Given the description of an element on the screen output the (x, y) to click on. 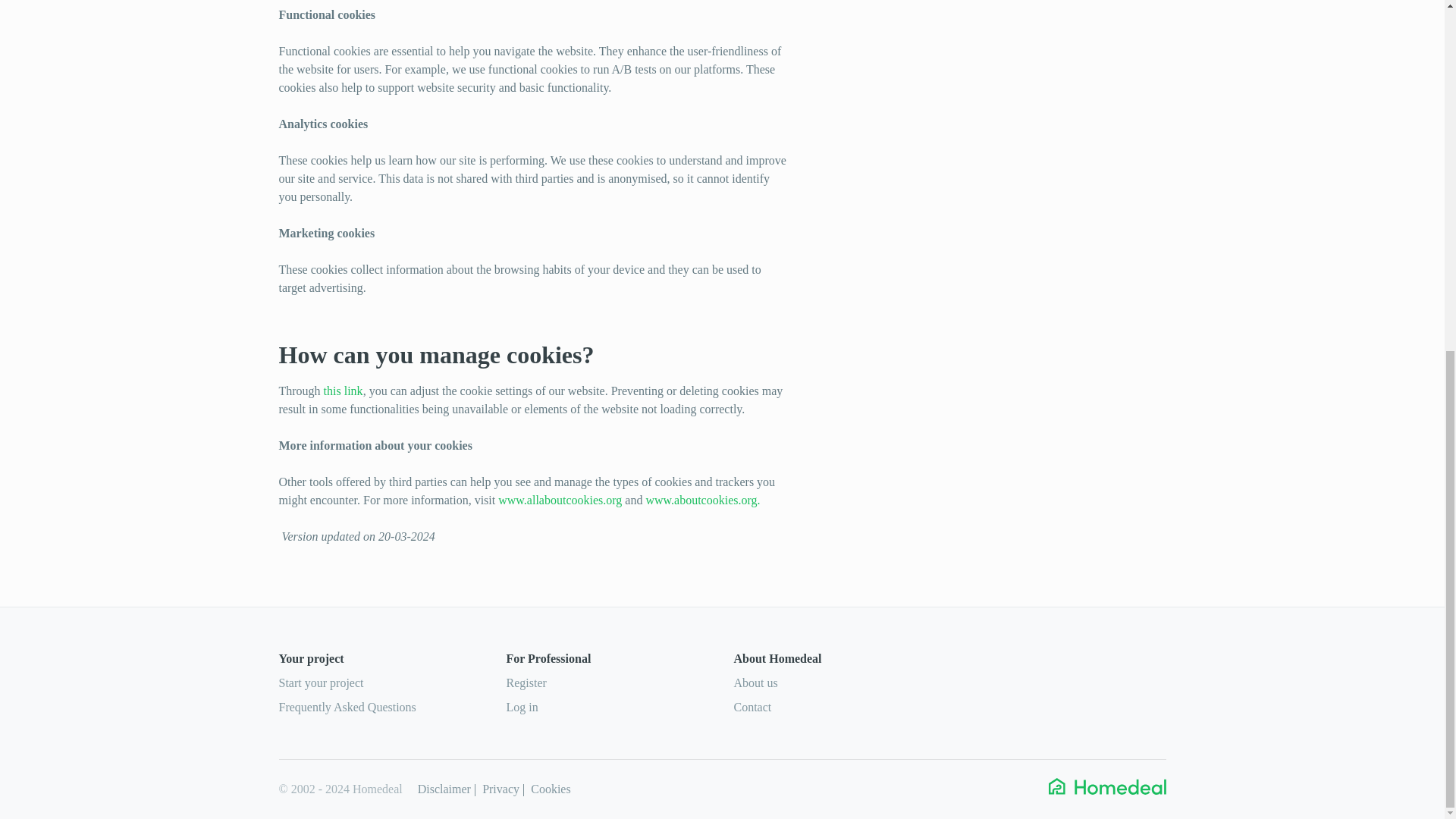
Cookies (550, 788)
Log in (522, 707)
Privacy (500, 788)
About us (755, 682)
www.aboutcookies.org. (702, 499)
Start your project (321, 682)
Frequently Asked Questions (347, 707)
www.allaboutcookies.org (559, 499)
Contact (752, 707)
Register (526, 682)
this link (342, 390)
Disclaimer (443, 788)
